Given the description of an element on the screen output the (x, y) to click on. 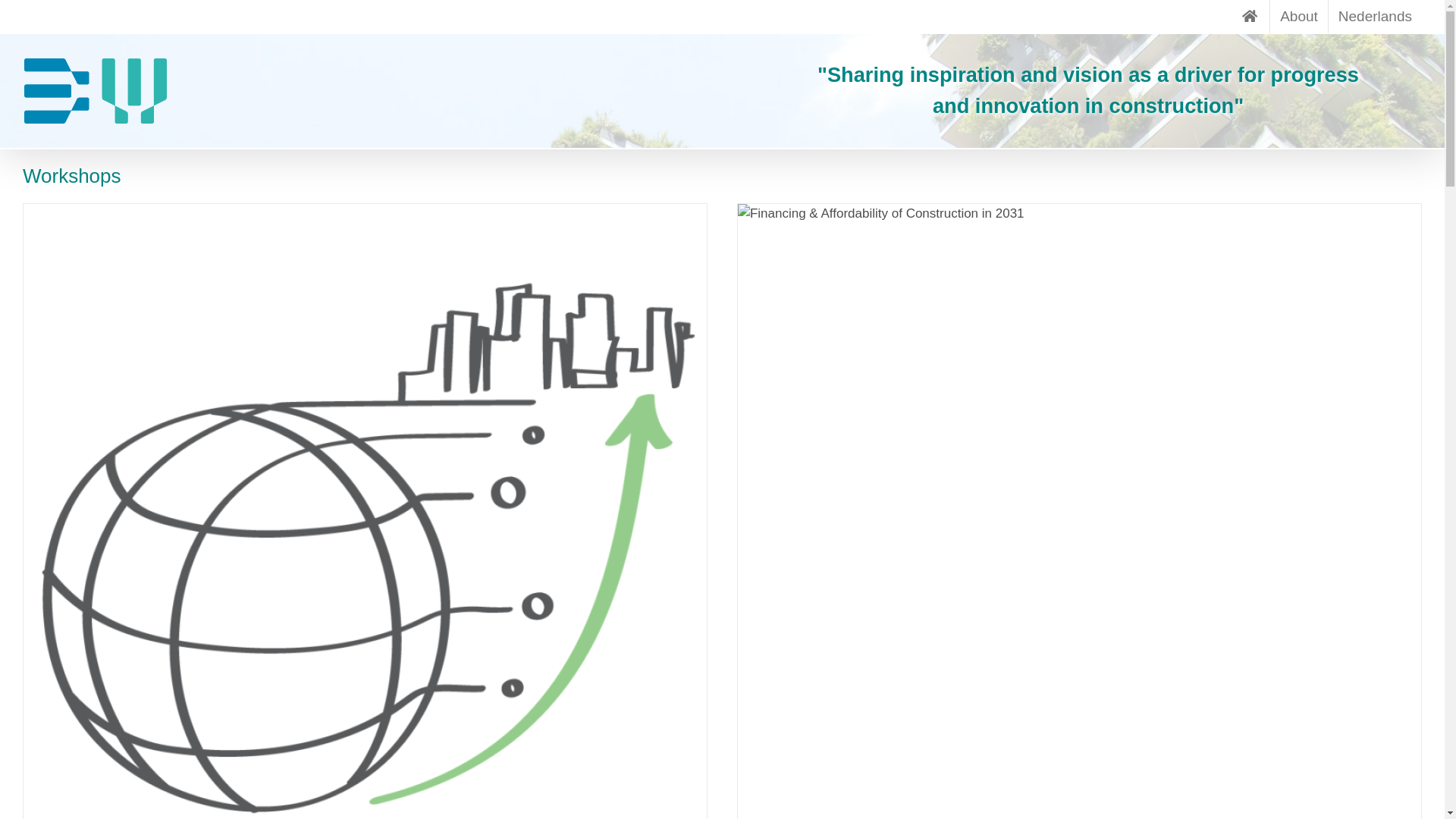
Nederlands Element type: text (1374, 16)
About Element type: text (1298, 16)
